Given the description of an element on the screen output the (x, y) to click on. 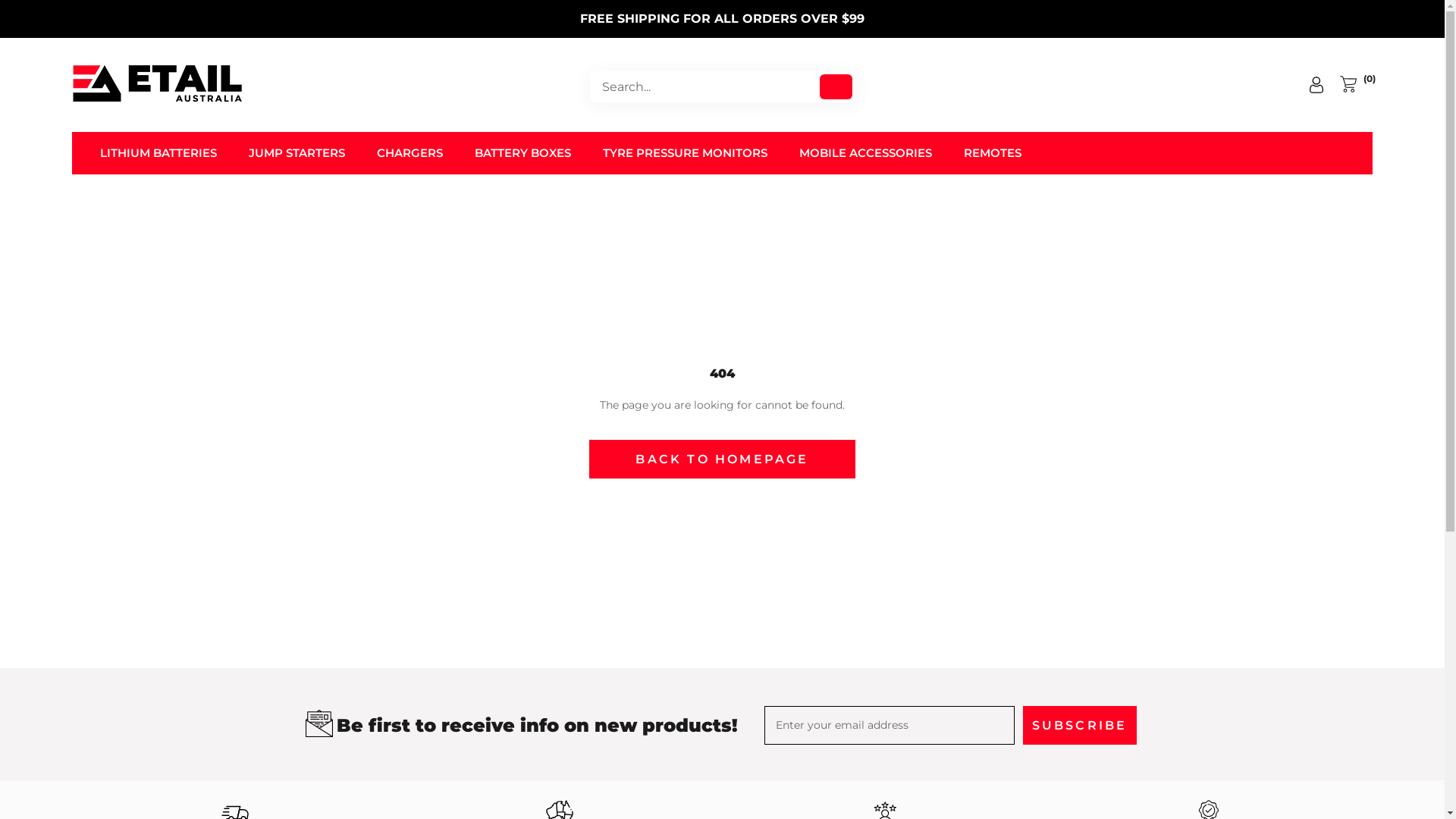
JUMP STARTERS Element type: text (296, 152)
BATTERY BOXES Element type: text (522, 152)
CHARGERS Element type: text (409, 152)
BACK TO HOMEPAGE Element type: text (721, 458)
REMOTES
REMOTES Element type: text (992, 152)
(0) Element type: text (1357, 84)
MOBILE ACCESSORIES Element type: text (865, 152)
SUBSCRIBE Element type: text (1078, 725)
LITHIUM BATTERIES Element type: text (158, 152)
TYRE PRESSURE MONITORS Element type: text (684, 152)
